Given the description of an element on the screen output the (x, y) to click on. 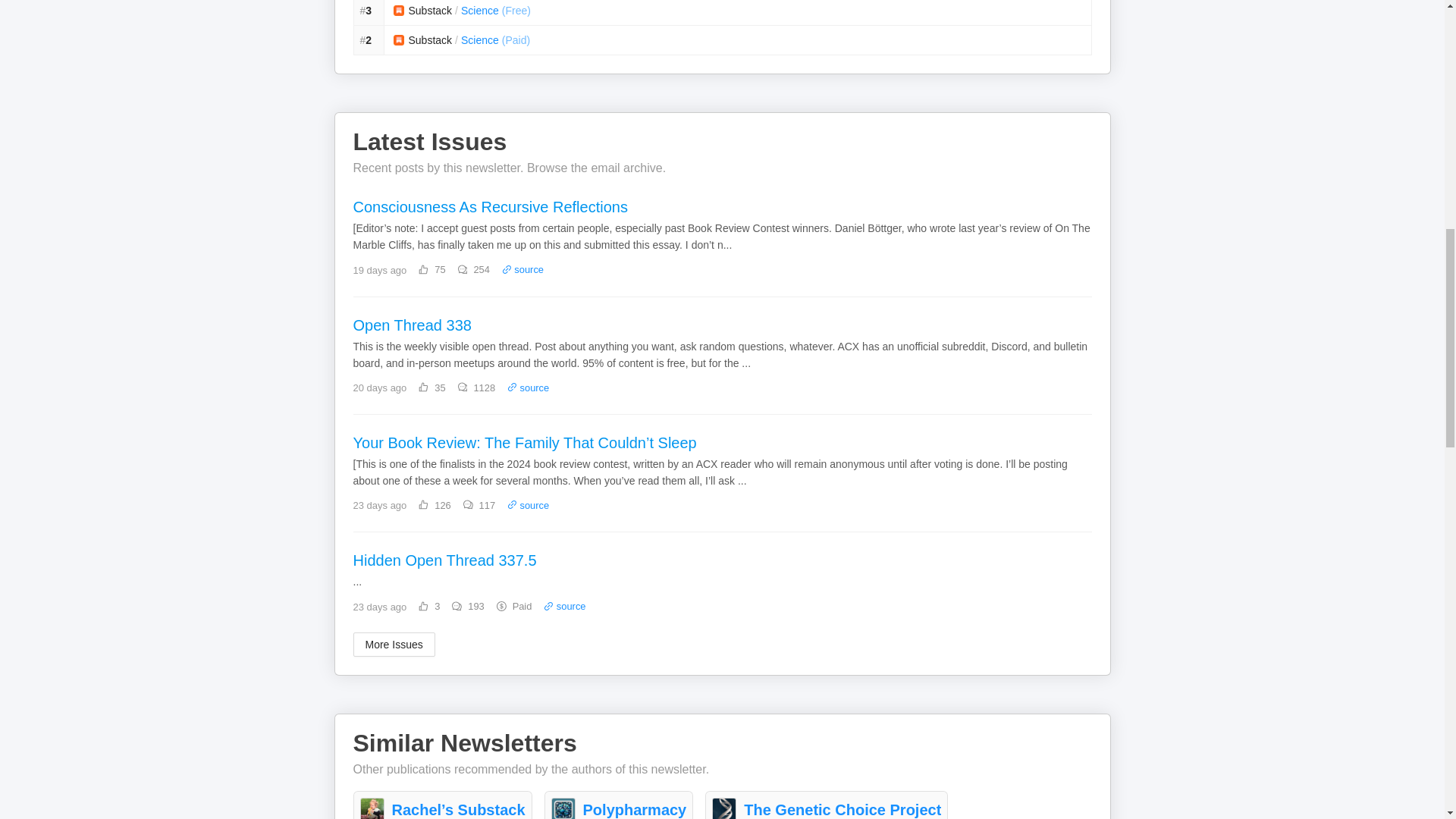
source (564, 605)
source (527, 387)
Open Thread 338 (722, 326)
More Issues (394, 644)
source (522, 269)
Hidden Open Thread 337.5 (722, 561)
Polypharmacy (635, 809)
More Issues (394, 644)
The Genetic Choice Project (842, 809)
Consciousness As Recursive Reflections (722, 208)
source (527, 505)
